Given the description of an element on the screen output the (x, y) to click on. 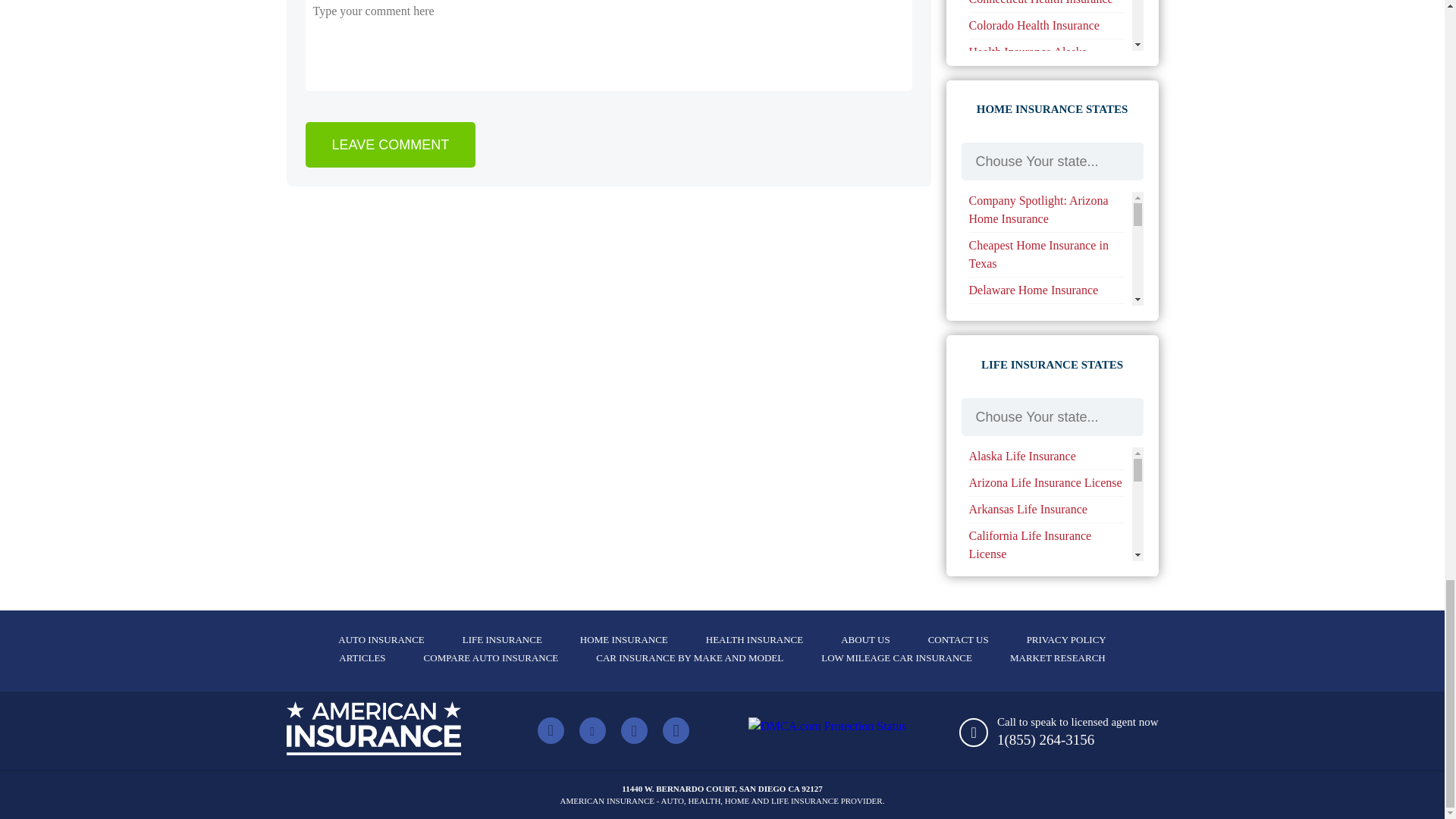
leave comment (390, 144)
leave comment (390, 144)
Car Insurance Iowa (1016, 18)
